Given the description of an element on the screen output the (x, y) to click on. 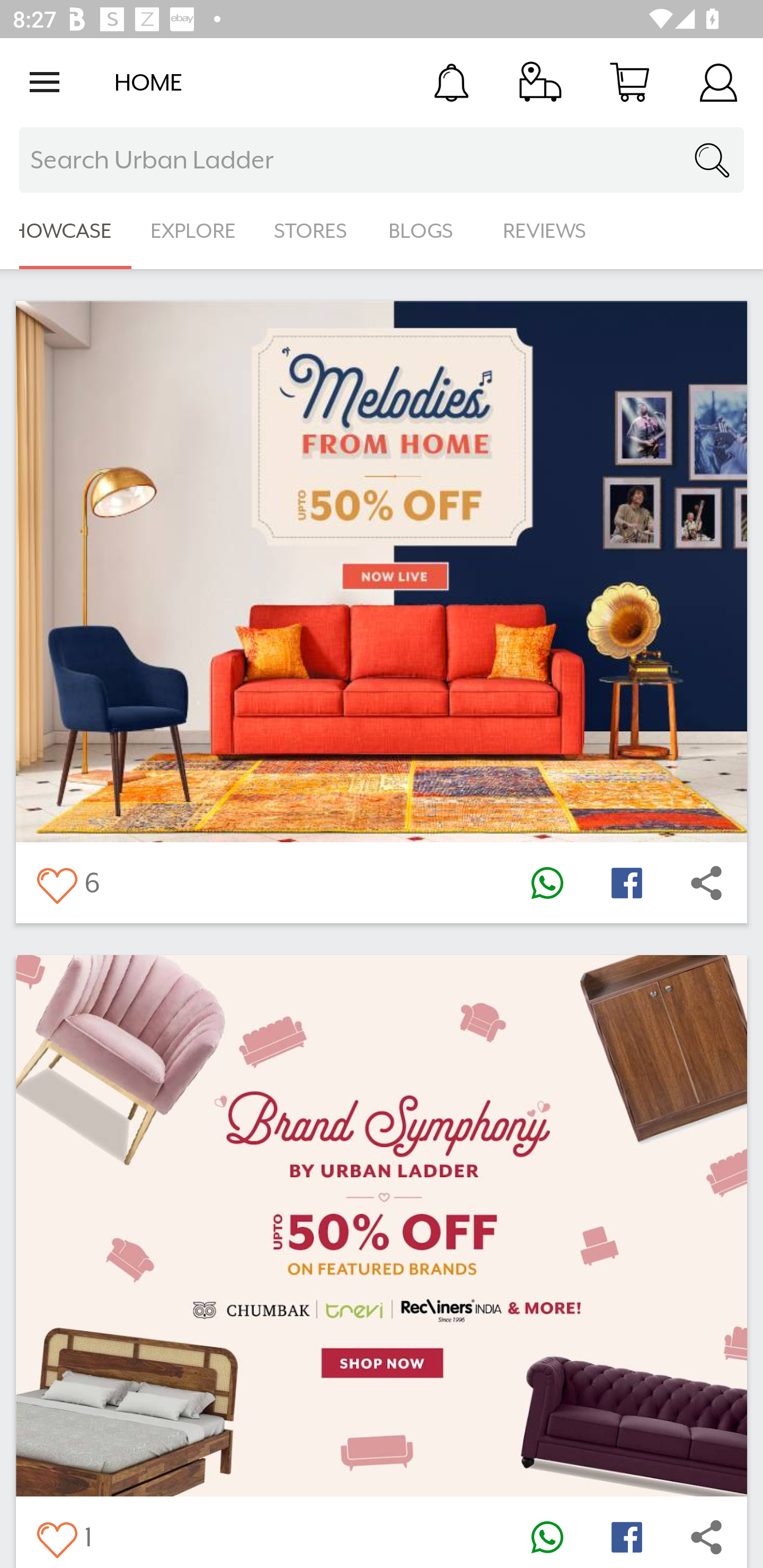
Open navigation drawer (44, 82)
Notification (450, 81)
Track Order (540, 81)
Cart (629, 81)
Account Details (718, 81)
Search Urban Ladder  (381, 159)
SHOWCASE (65, 230)
EXPLORE (192, 230)
STORES (311, 230)
BLOGS (426, 230)
REVIEWS (544, 230)
 (55, 882)
 (547, 882)
 (626, 882)
 (706, 882)
 (55, 1536)
 (547, 1536)
 (626, 1536)
 (706, 1536)
